Given the description of an element on the screen output the (x, y) to click on. 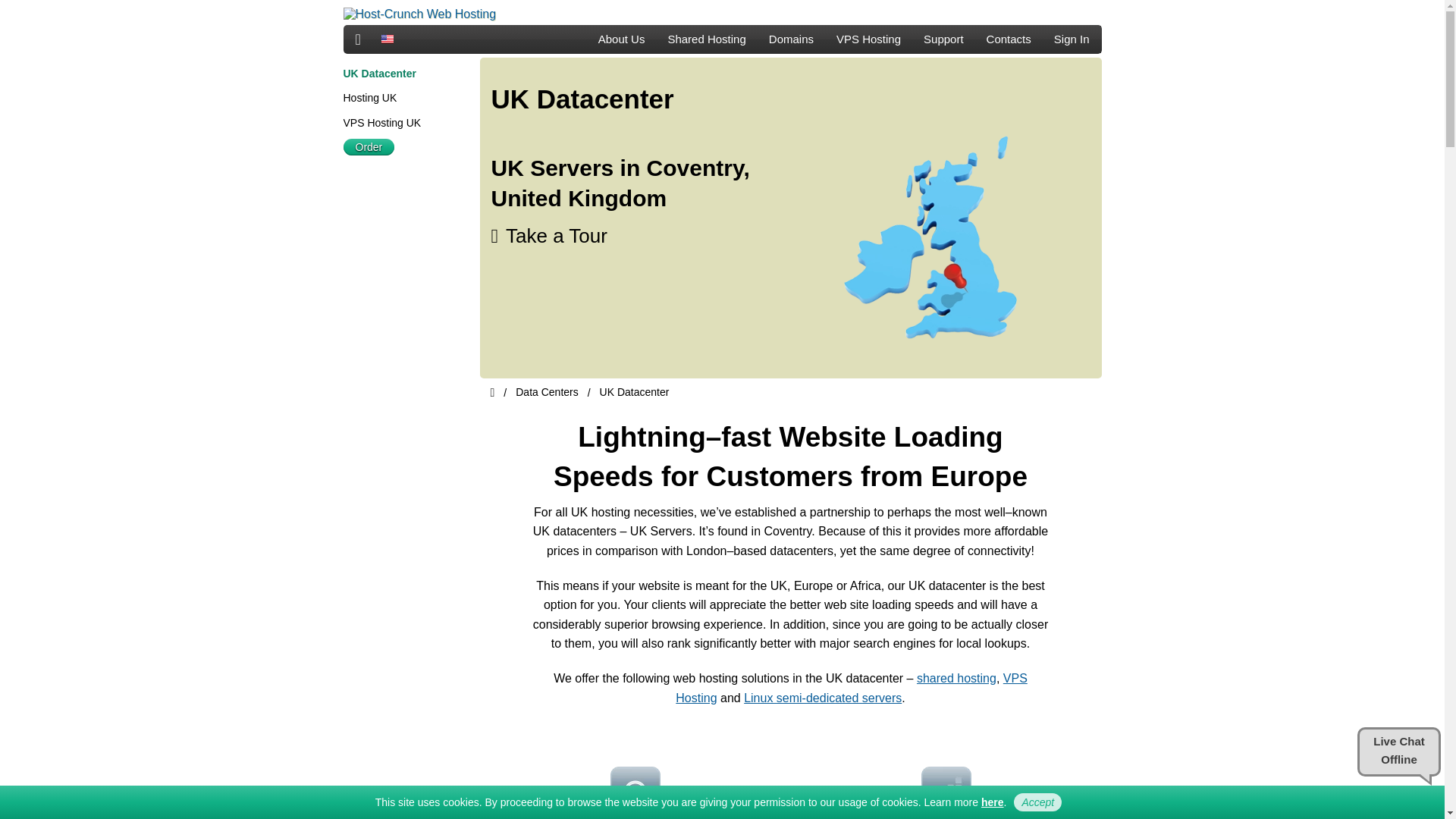
Sign In (1071, 39)
UK Datacenter (378, 73)
Order (368, 146)
Shared Hosting (706, 39)
Linux semi-dedicated servers (822, 697)
shared hosting (956, 677)
Domains (791, 39)
VPS Hosting UK (381, 122)
Linux semi-dedicated servers (822, 697)
VPS Hosting (868, 39)
Support (943, 39)
UK Datacenter (634, 391)
Contacts (1008, 39)
Hosting UK (369, 97)
About Us (621, 39)
